Given the description of an element on the screen output the (x, y) to click on. 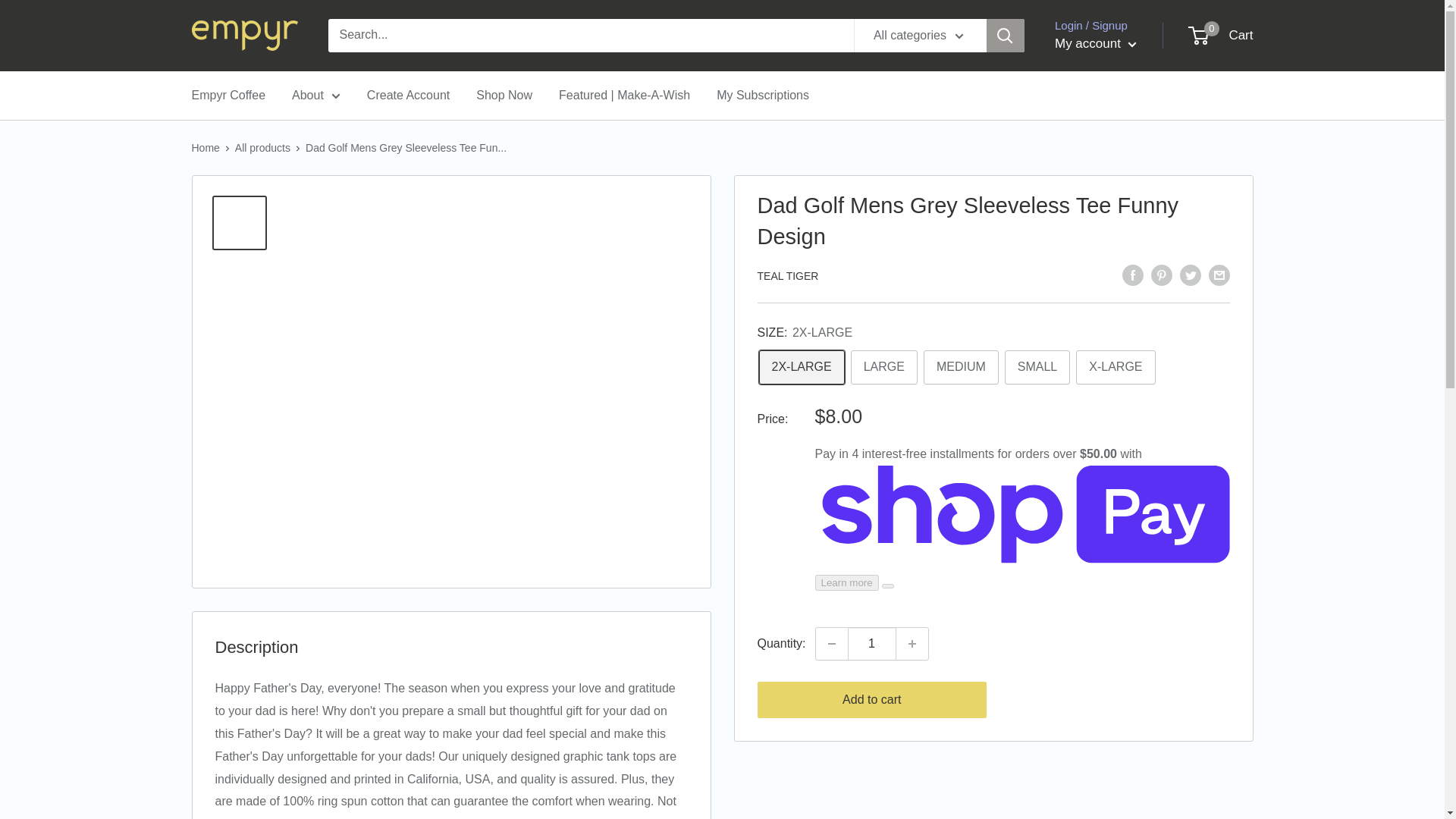
X-LARGE (1114, 367)
2X-LARGE (801, 367)
About (316, 95)
My account (1095, 43)
empyrshop (1221, 35)
MEDIUM (243, 35)
Empyr Coffee (960, 367)
LARGE (227, 95)
SMALL (883, 367)
